Given the description of an element on the screen output the (x, y) to click on. 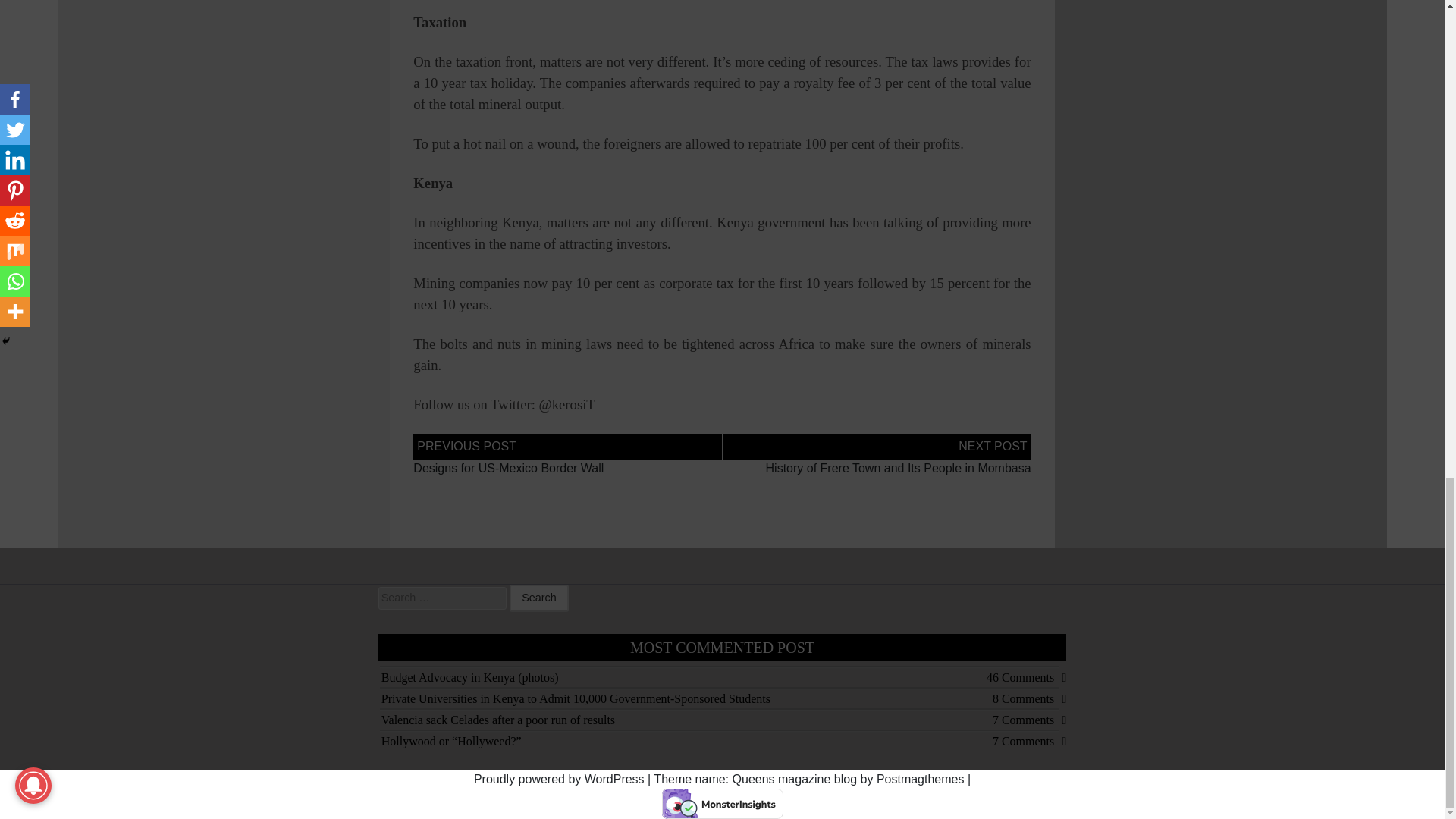
History of Frere Town and Its People in Mombasa (897, 468)
Search (539, 597)
Search (539, 597)
Search (539, 597)
Designs for US-Mexico Border Wall (508, 468)
